Given the description of an element on the screen output the (x, y) to click on. 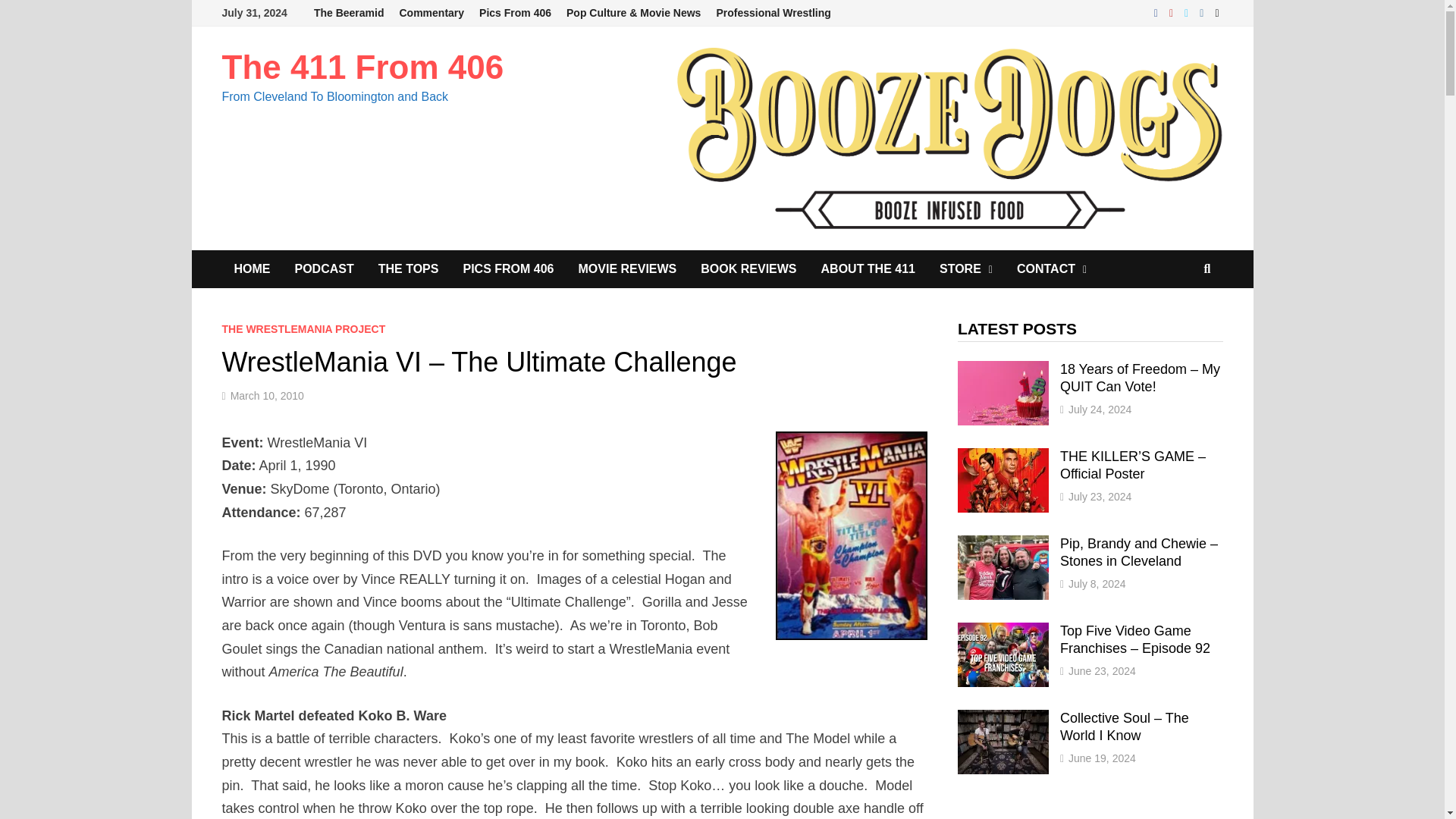
THE TOPS (408, 269)
The Beeramid (348, 13)
MOVIE REVIEWS (627, 269)
Facebook (1158, 11)
BOOK REVIEWS (748, 269)
PICS FROM 406 (507, 269)
Pics From 406 (515, 13)
STORE (965, 269)
ABOUT THE 411 (868, 269)
Commentary (431, 13)
